Given the description of an element on the screen output the (x, y) to click on. 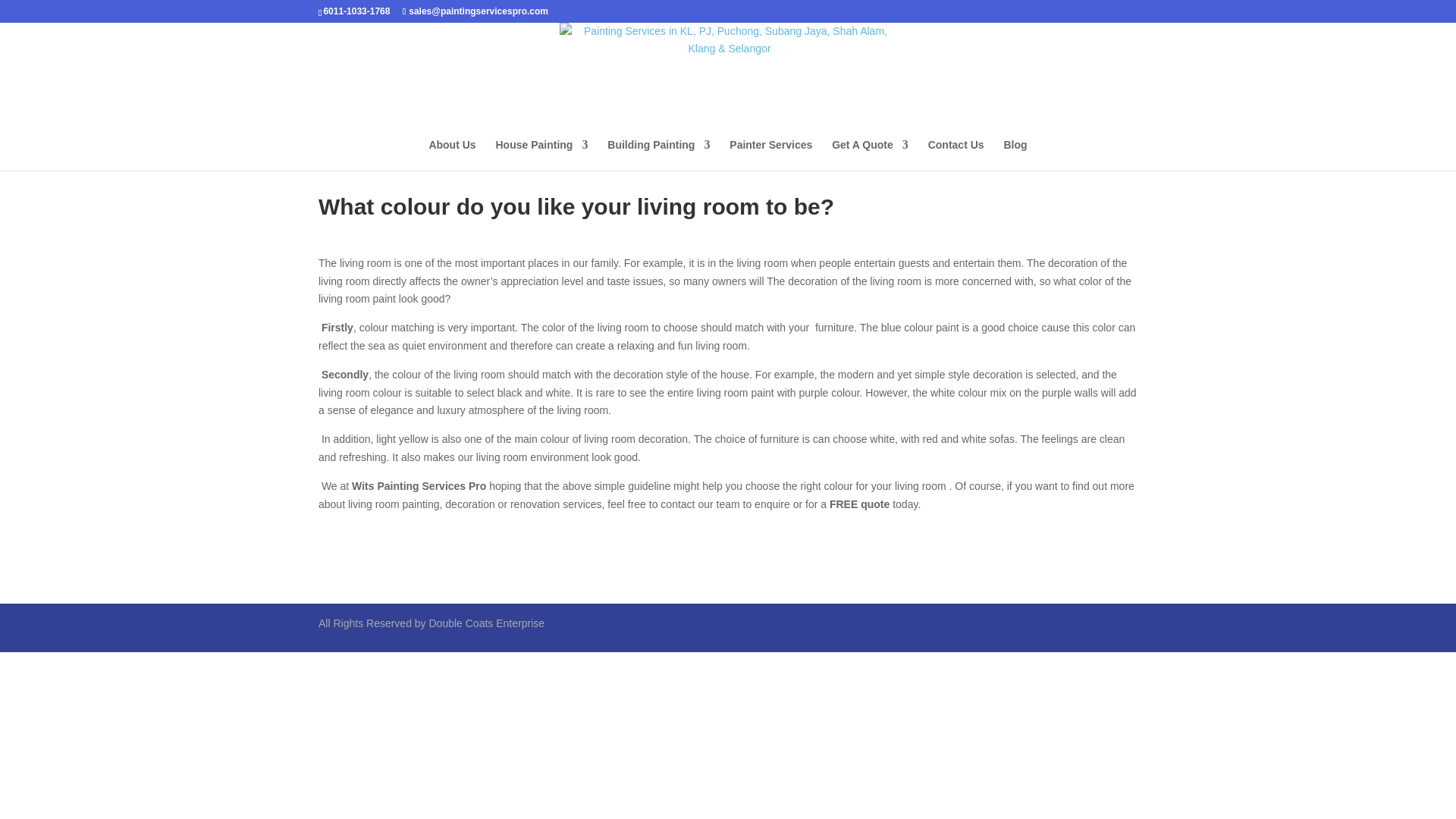
Building Painting (658, 154)
6011-1033-1768 (356, 10)
House Painting (542, 154)
Painter Services (770, 154)
About Us (452, 154)
Get A Quote (869, 154)
Contact Us (956, 154)
